Given the description of an element on the screen output the (x, y) to click on. 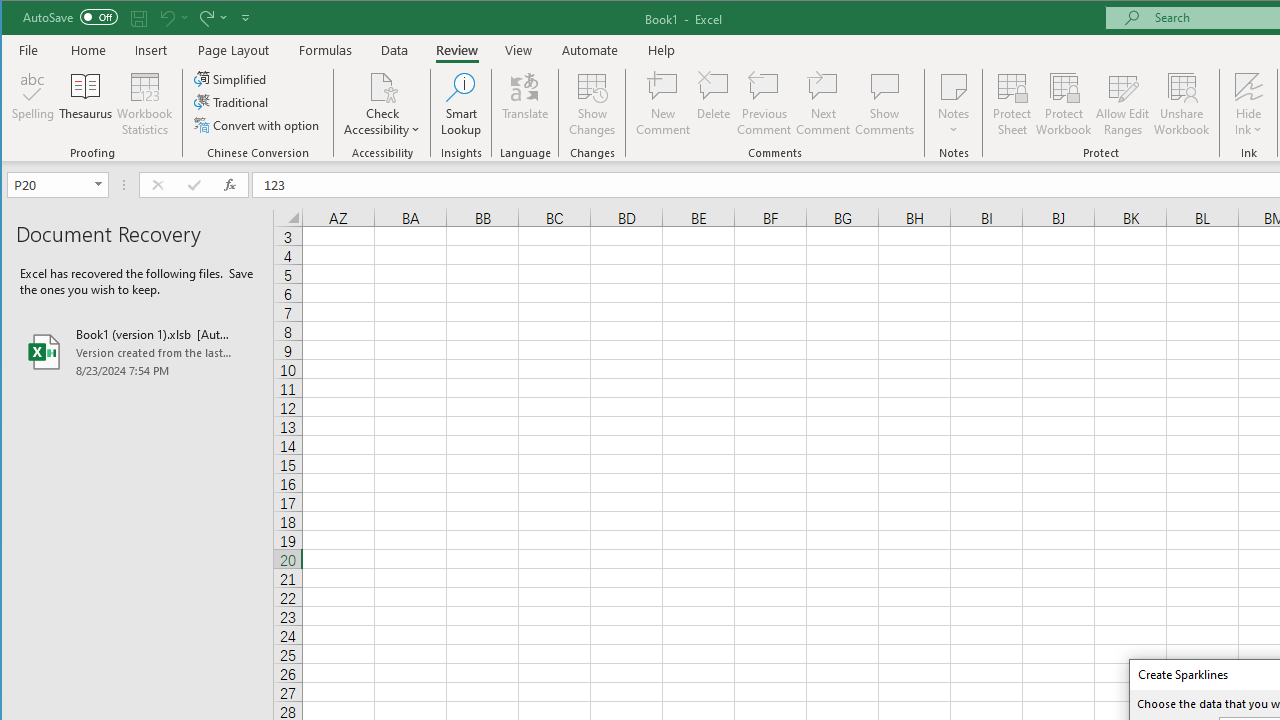
Smart Lookup (461, 104)
Protect Workbook... (1064, 104)
Unshare Workbook (1182, 104)
Protect Sheet... (1012, 104)
Book1 (version 1).xlsb  [AutoRecovered] (137, 352)
New Comment (662, 104)
Check Accessibility (381, 104)
Translate (525, 104)
Convert with option (258, 124)
